Given the description of an element on the screen output the (x, y) to click on. 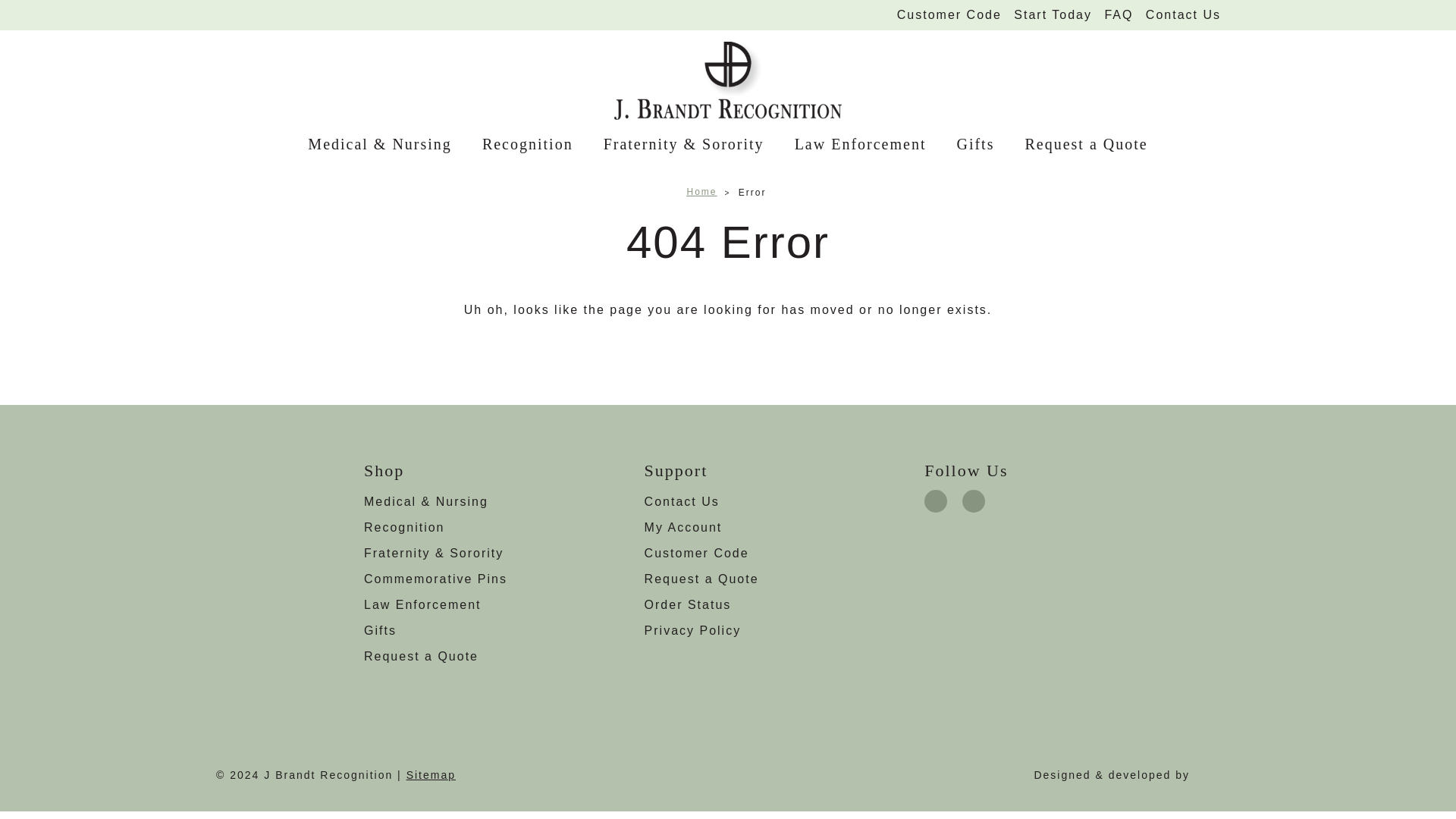
Customer Code (949, 15)
J. Brandt Recognition (727, 80)
Law Enforcement (860, 144)
Recognition (527, 144)
FAQ (1118, 15)
Contact Us (1182, 15)
Gifts (974, 144)
Request a Quote (1085, 144)
Start Today (1053, 15)
